Given the description of an element on the screen output the (x, y) to click on. 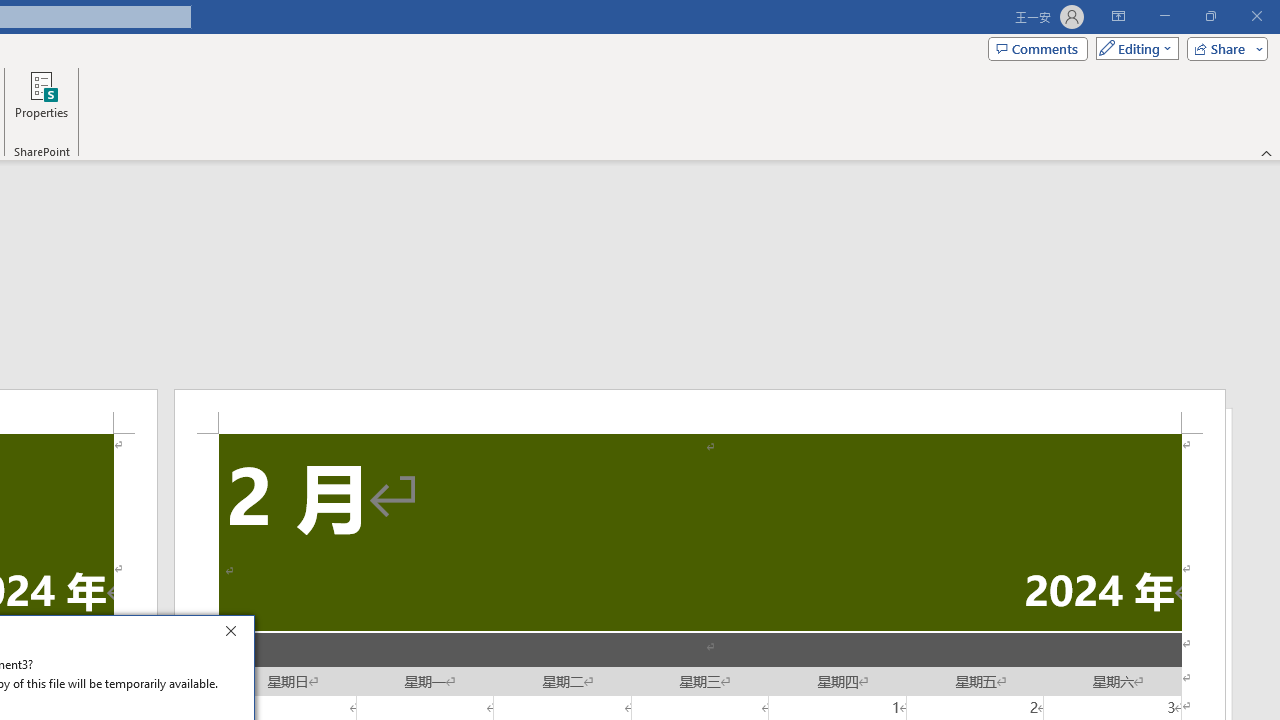
Header -Section 2- (700, 411)
Properties (41, 102)
